Given the description of an element on the screen output the (x, y) to click on. 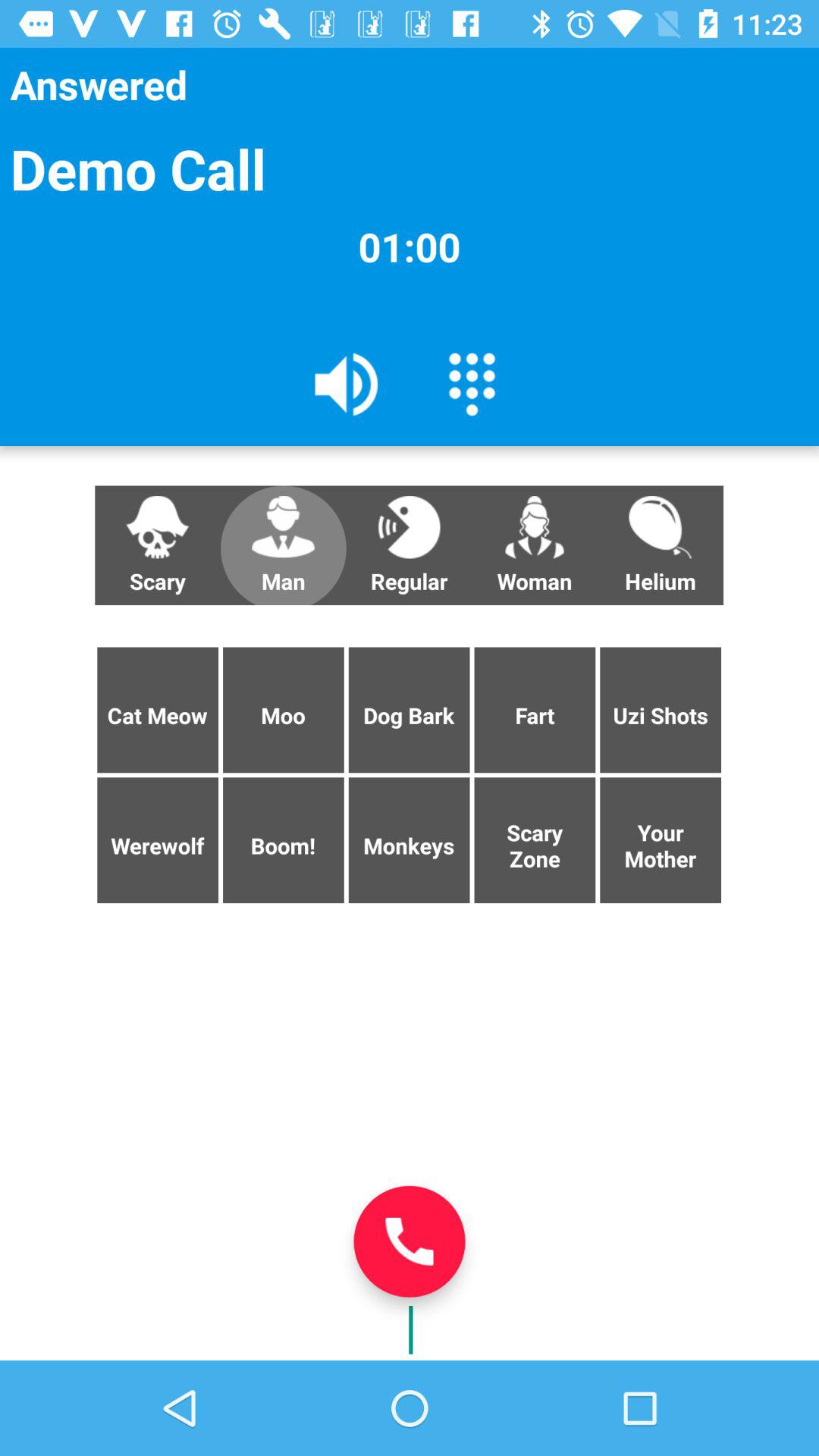
turn off the icon below 01:00 item (472, 382)
